Given the description of an element on the screen output the (x, y) to click on. 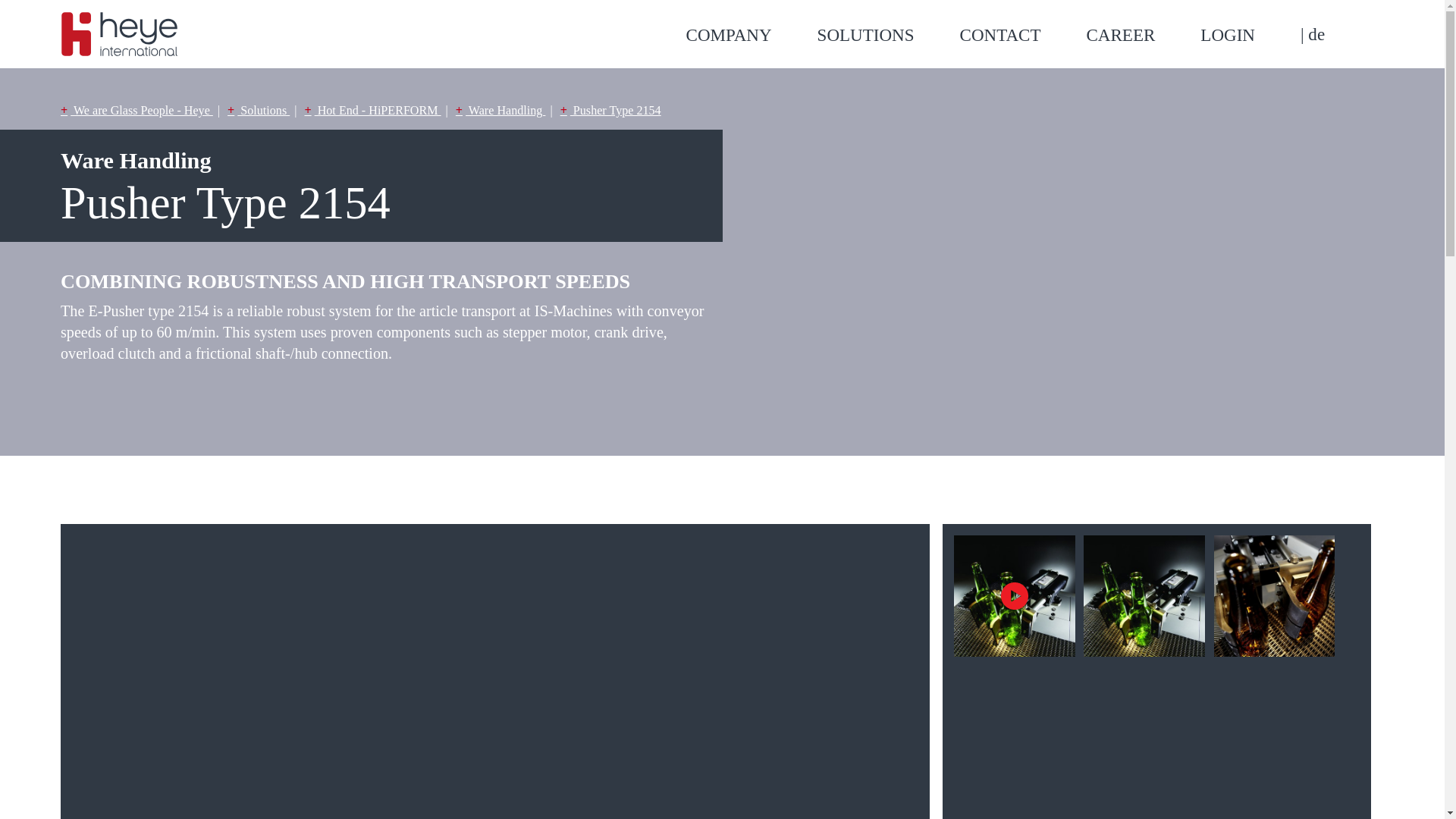
CONTACT (1022, 34)
LOGIN (1249, 34)
CAREER (1142, 34)
COMPANY (750, 34)
SOLUTIONS (887, 34)
Deutsch (1312, 34)
